Given the description of an element on the screen output the (x, y) to click on. 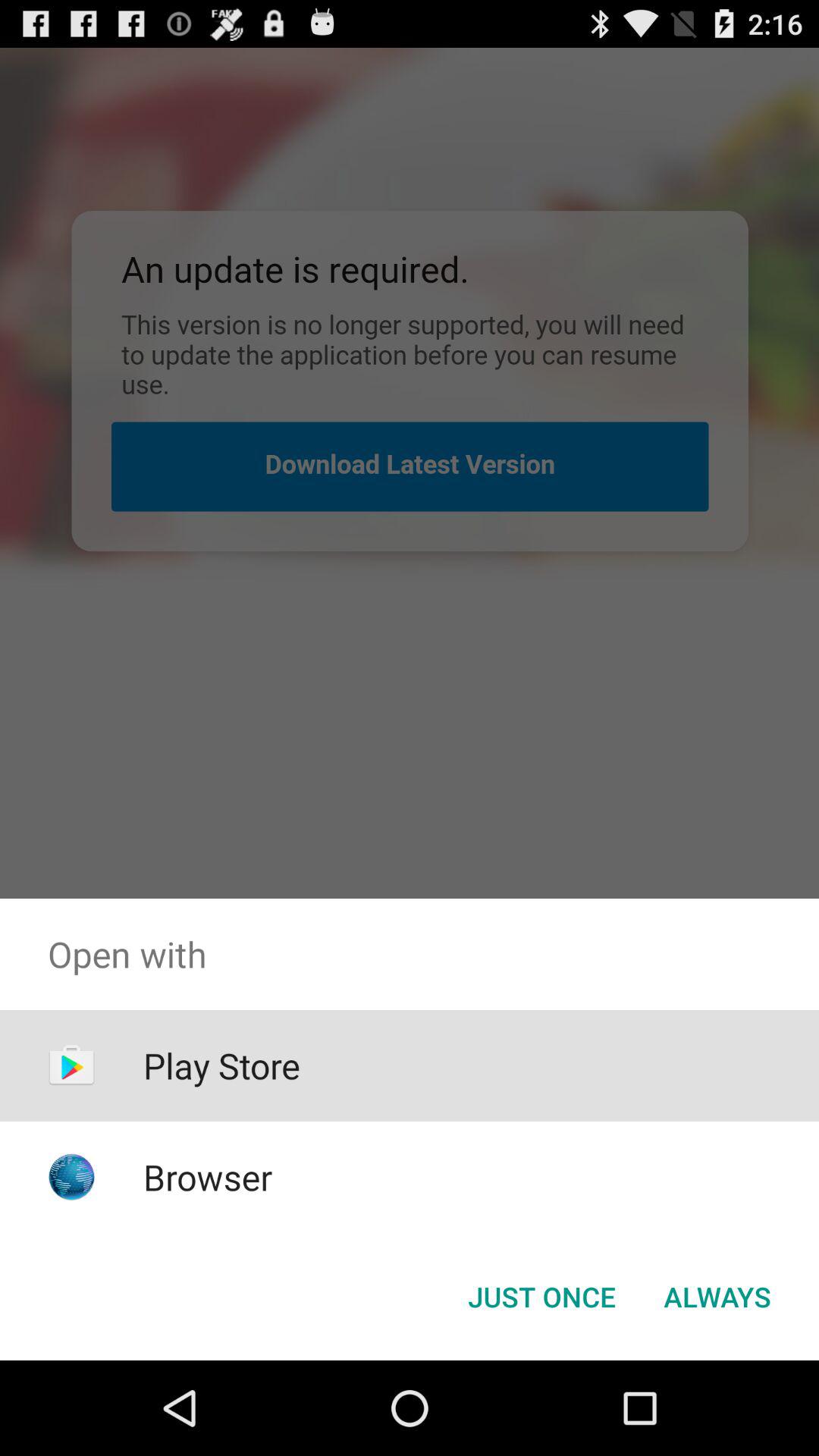
choose item at the bottom right corner (717, 1296)
